Given the description of an element on the screen output the (x, y) to click on. 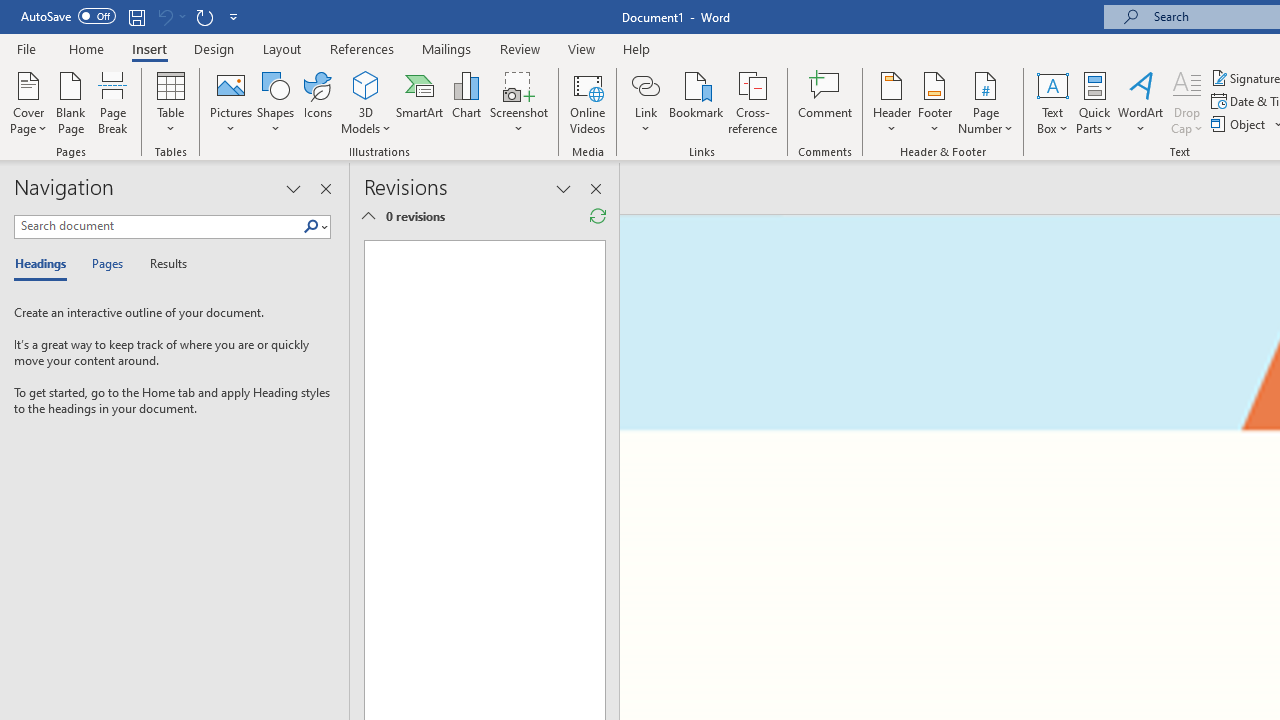
3D Models (366, 84)
Can't Undo (170, 15)
Icons (317, 102)
Cross-reference... (752, 102)
Footer (934, 102)
Drop Cap (1187, 102)
Chart... (466, 102)
SmartArt... (419, 102)
Link (645, 102)
Shapes (275, 102)
